Given the description of an element on the screen output the (x, y) to click on. 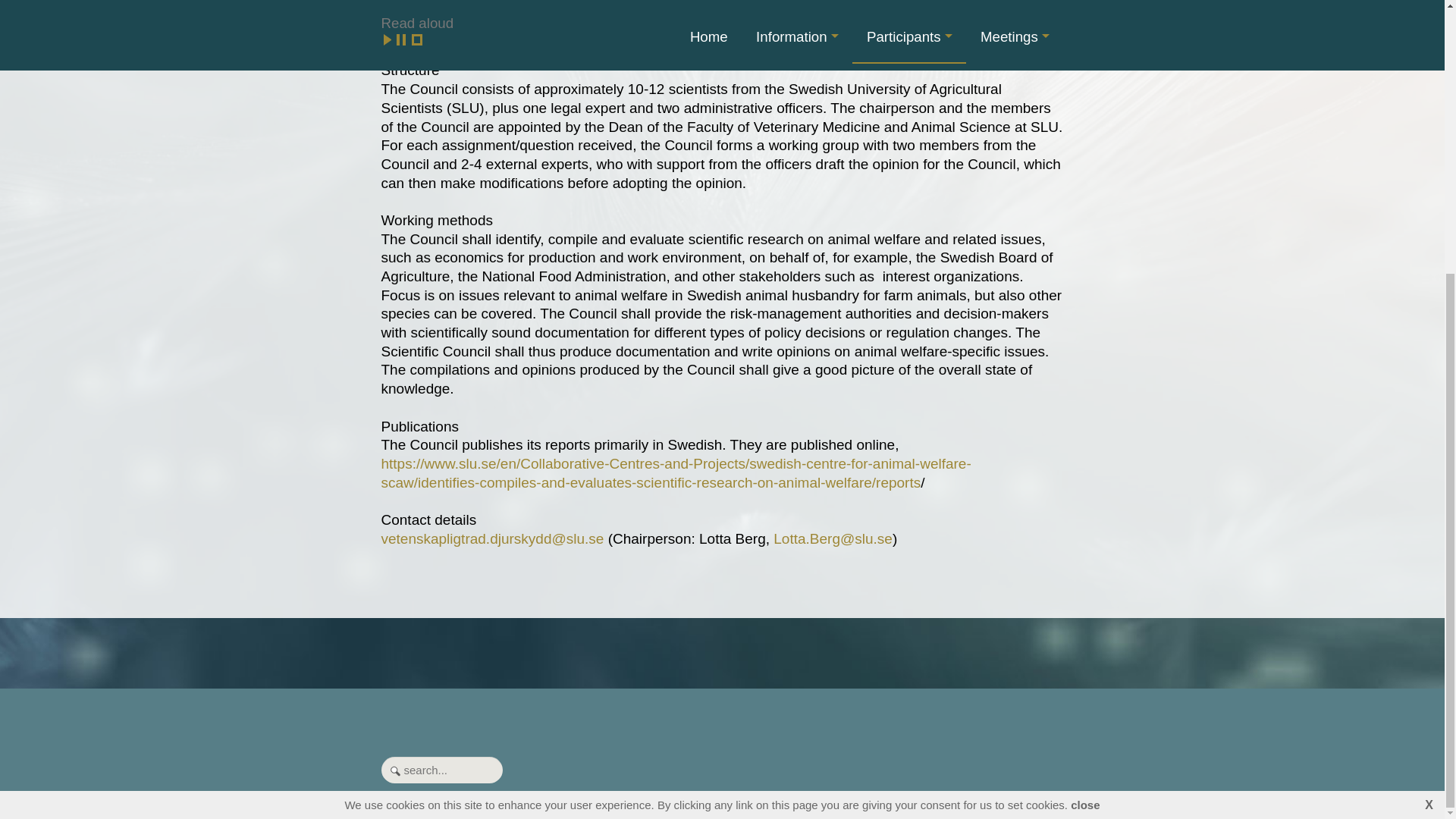
login (809, 805)
 create websites (425, 805)
create website (425, 805)
create website (403, 806)
